Given the description of an element on the screen output the (x, y) to click on. 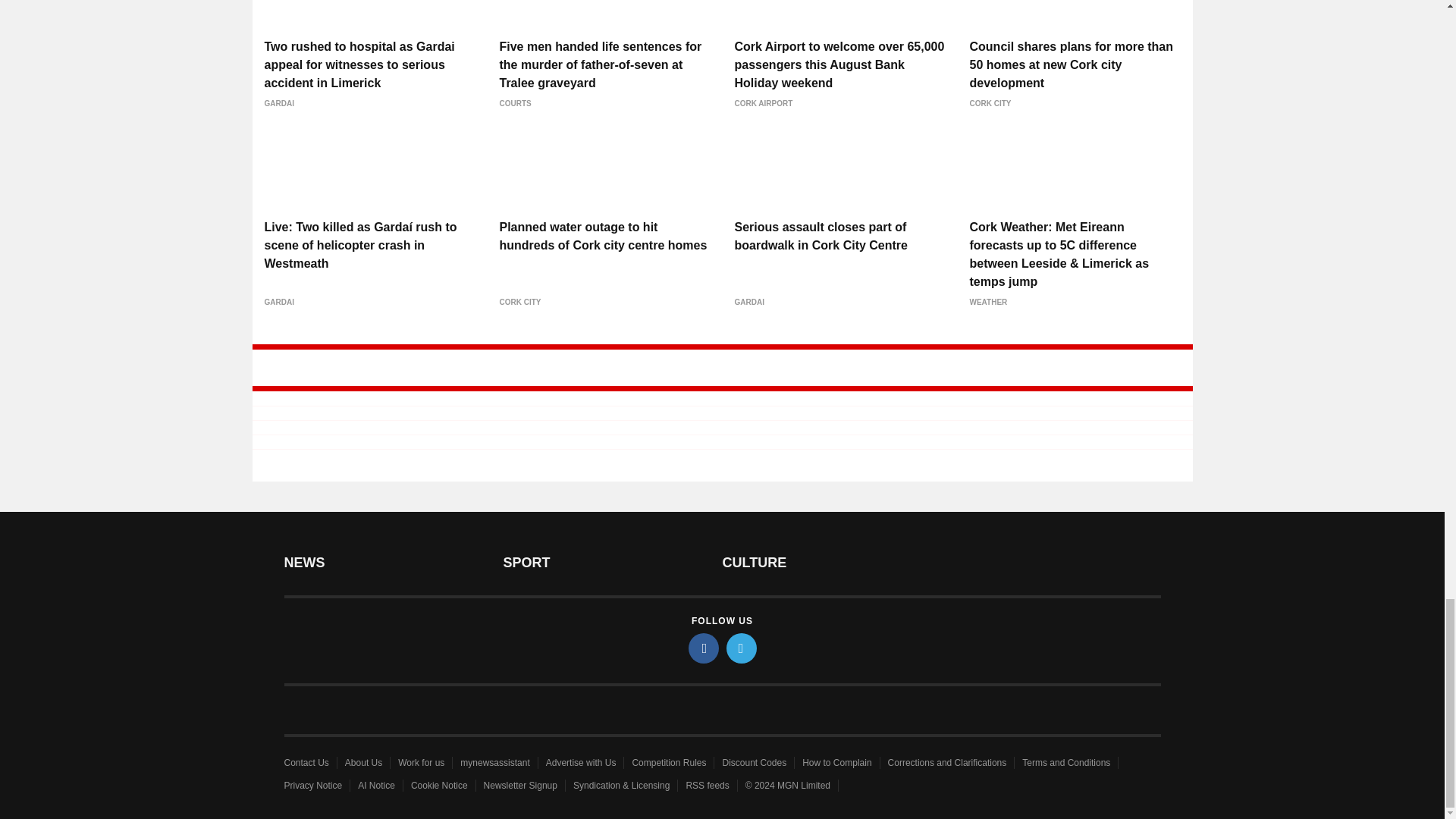
twitter (741, 648)
facebook (703, 648)
